Given the description of an element on the screen output the (x, y) to click on. 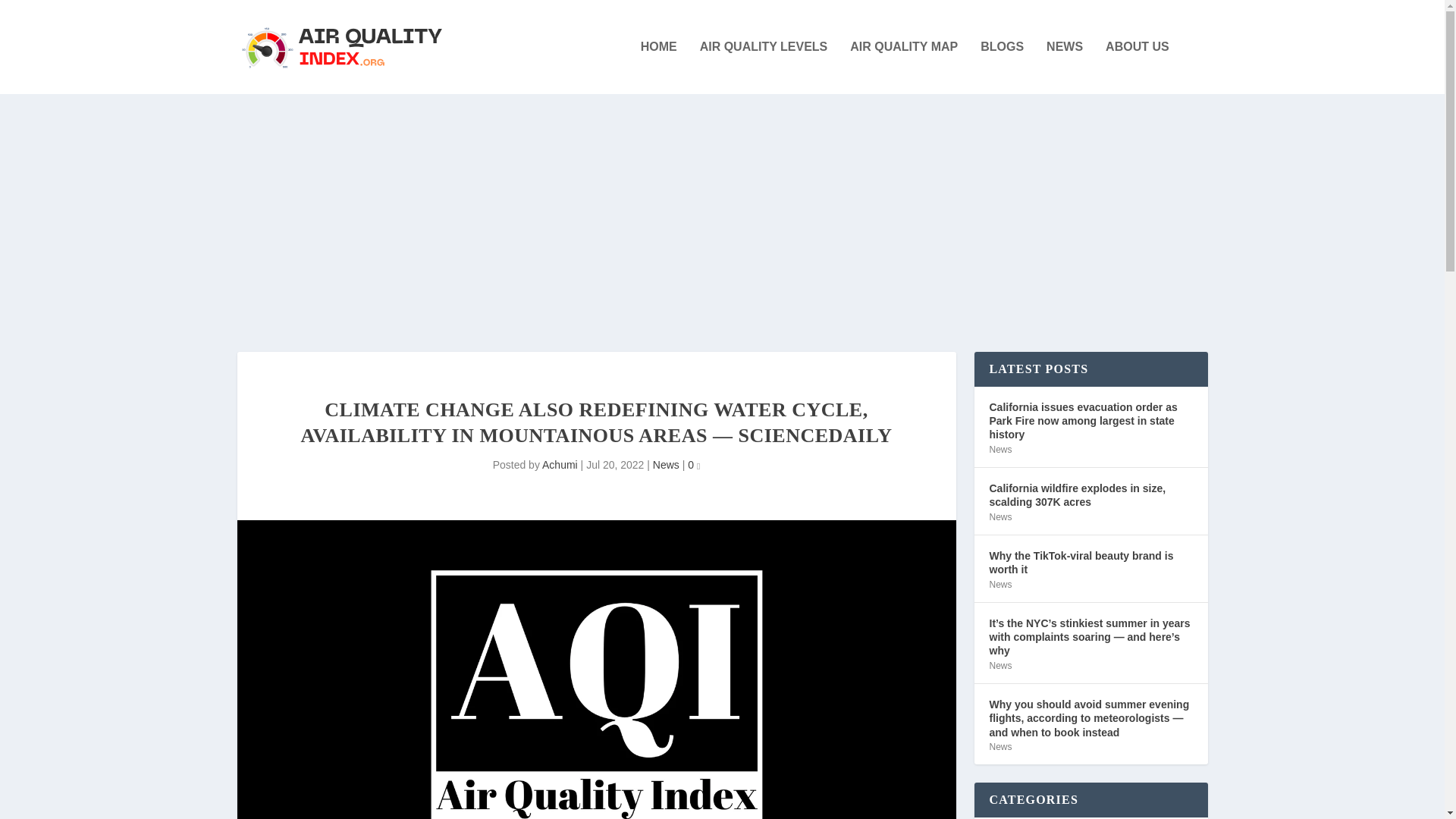
Achumi (559, 464)
Why the TikTok-viral beauty brand is worth it (1090, 562)
California wildfire explodes in size, scalding 307K acres (1090, 495)
AIR QUALITY MAP (904, 67)
News (999, 449)
News (999, 584)
News (665, 464)
AIR QUALITY LEVELS (764, 67)
0 (693, 464)
Posts by Achumi (559, 464)
News (999, 516)
ABOUT US (1137, 67)
